Given the description of an element on the screen output the (x, y) to click on. 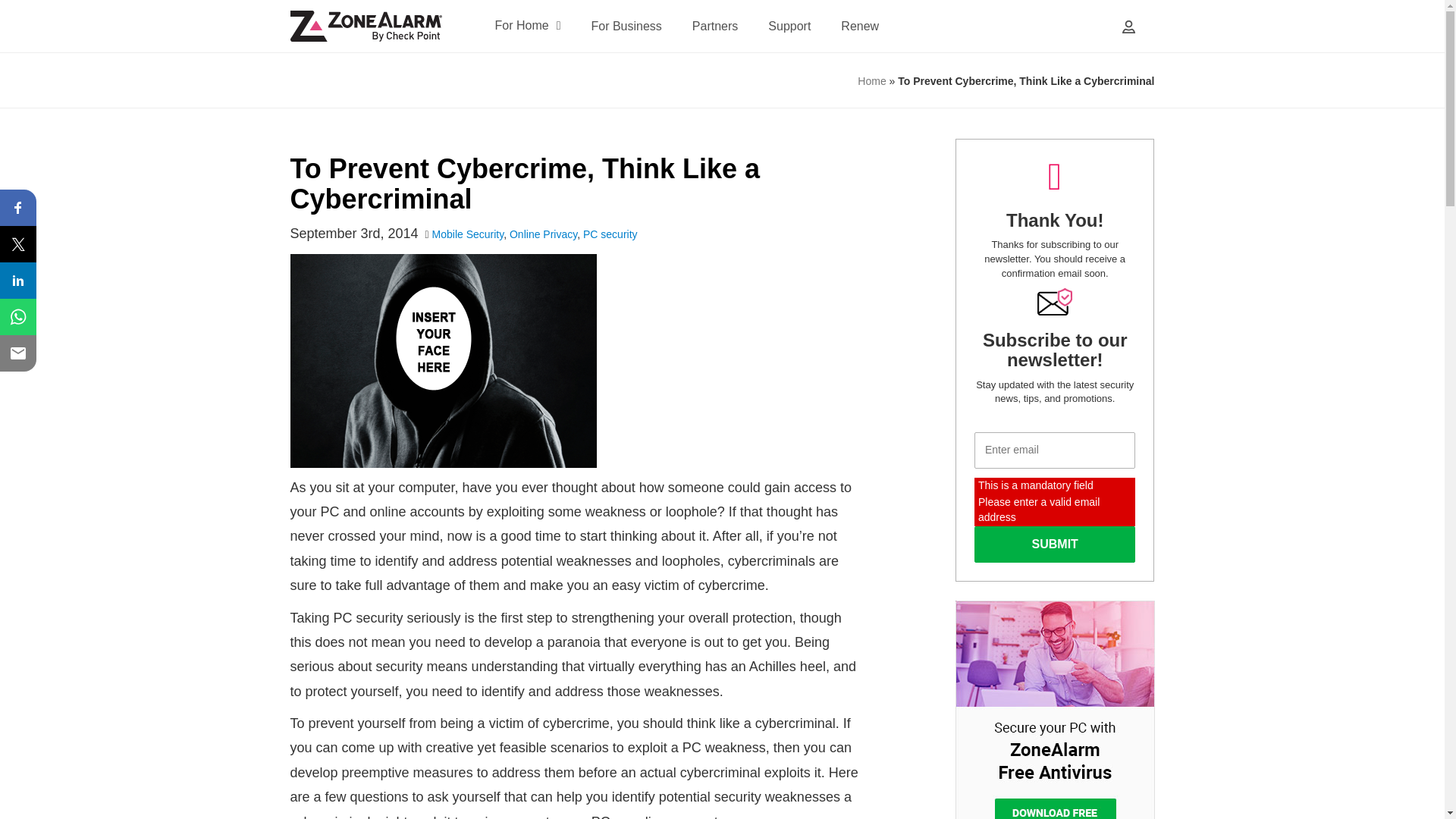
Home (871, 80)
Online Privacy (542, 234)
Mobile Security (467, 234)
Renew (860, 26)
For Business (626, 26)
Partners (715, 26)
PC security (610, 234)
To Prevent Cybercrime, Think Like a Cybercriminal (524, 183)
Support (789, 26)
